Given the description of an element on the screen output the (x, y) to click on. 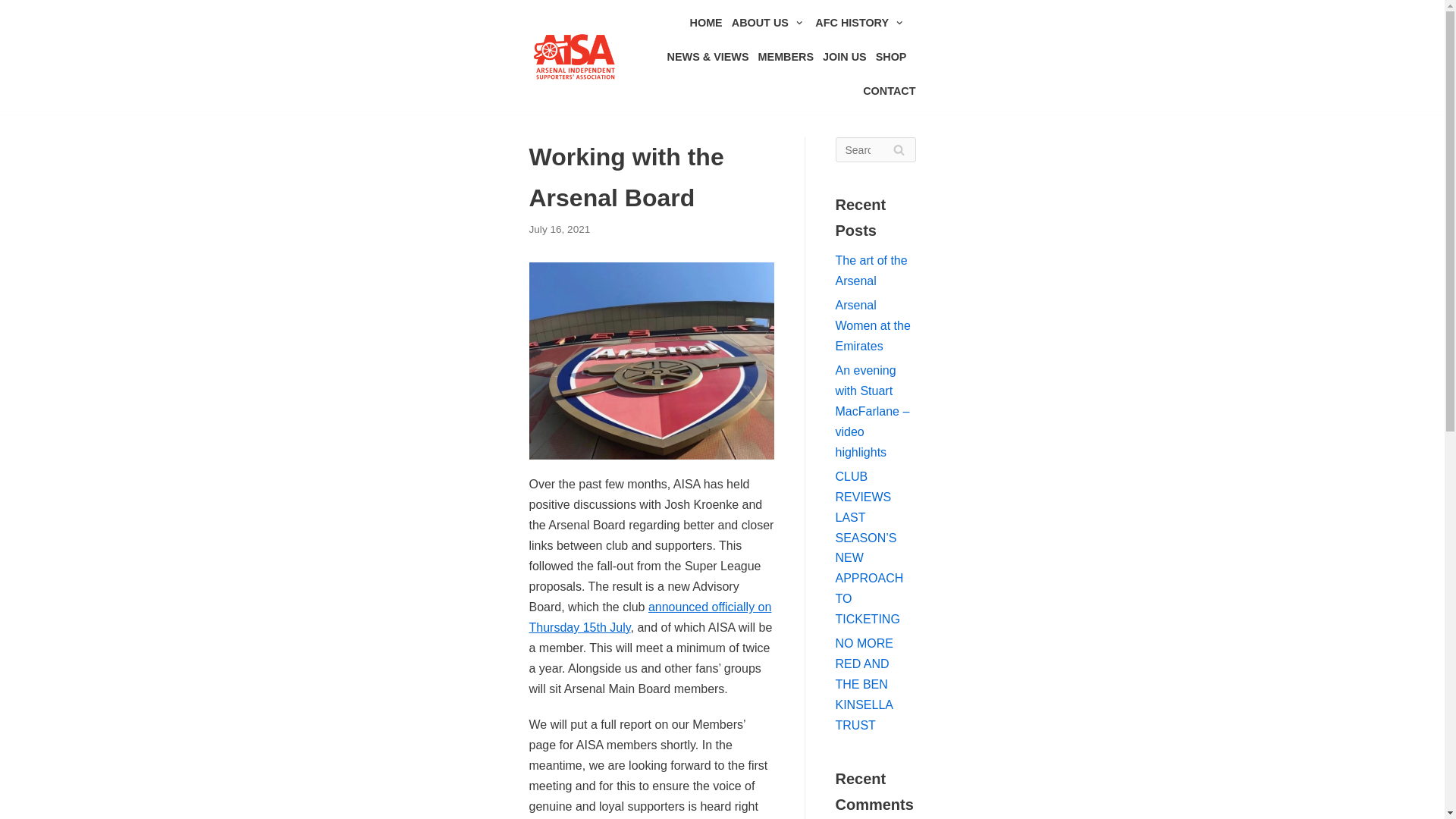
Search (897, 149)
JOIN US (844, 56)
SHOP (891, 56)
MEMBERS (785, 56)
AFC HISTORY (860, 22)
HOME (706, 22)
The art of the Arsenal (871, 270)
AISA (574, 56)
announced officially on Thursday 15th July (650, 616)
Skip to content (15, 31)
Arsenal Women at the Emirates (873, 325)
CONTACT (889, 90)
Search (897, 149)
Search (897, 149)
ABOUT US (769, 22)
